Given the description of an element on the screen output the (x, y) to click on. 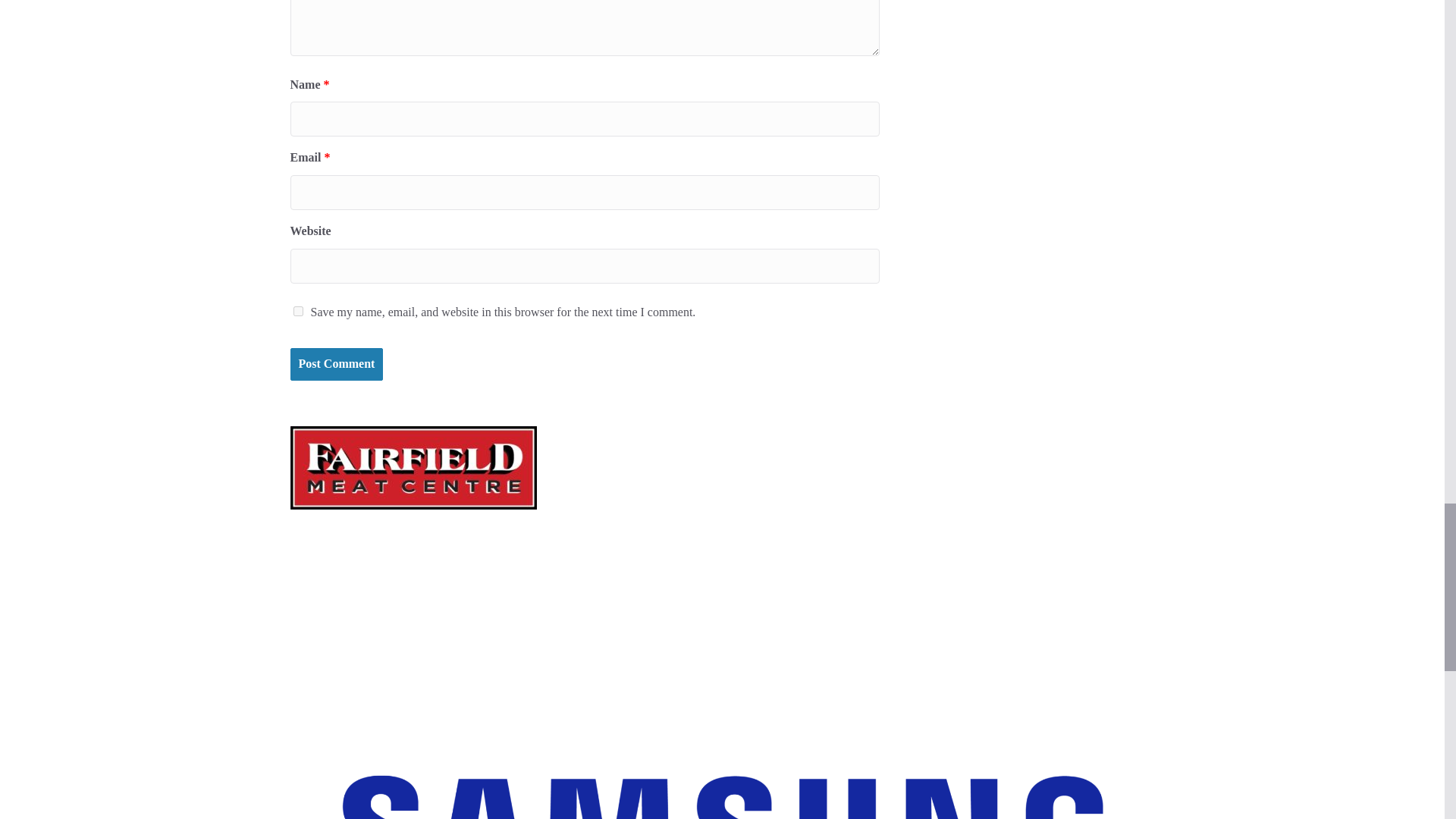
Post Comment (335, 364)
yes (297, 311)
Post Comment (335, 364)
